Given the description of an element on the screen output the (x, y) to click on. 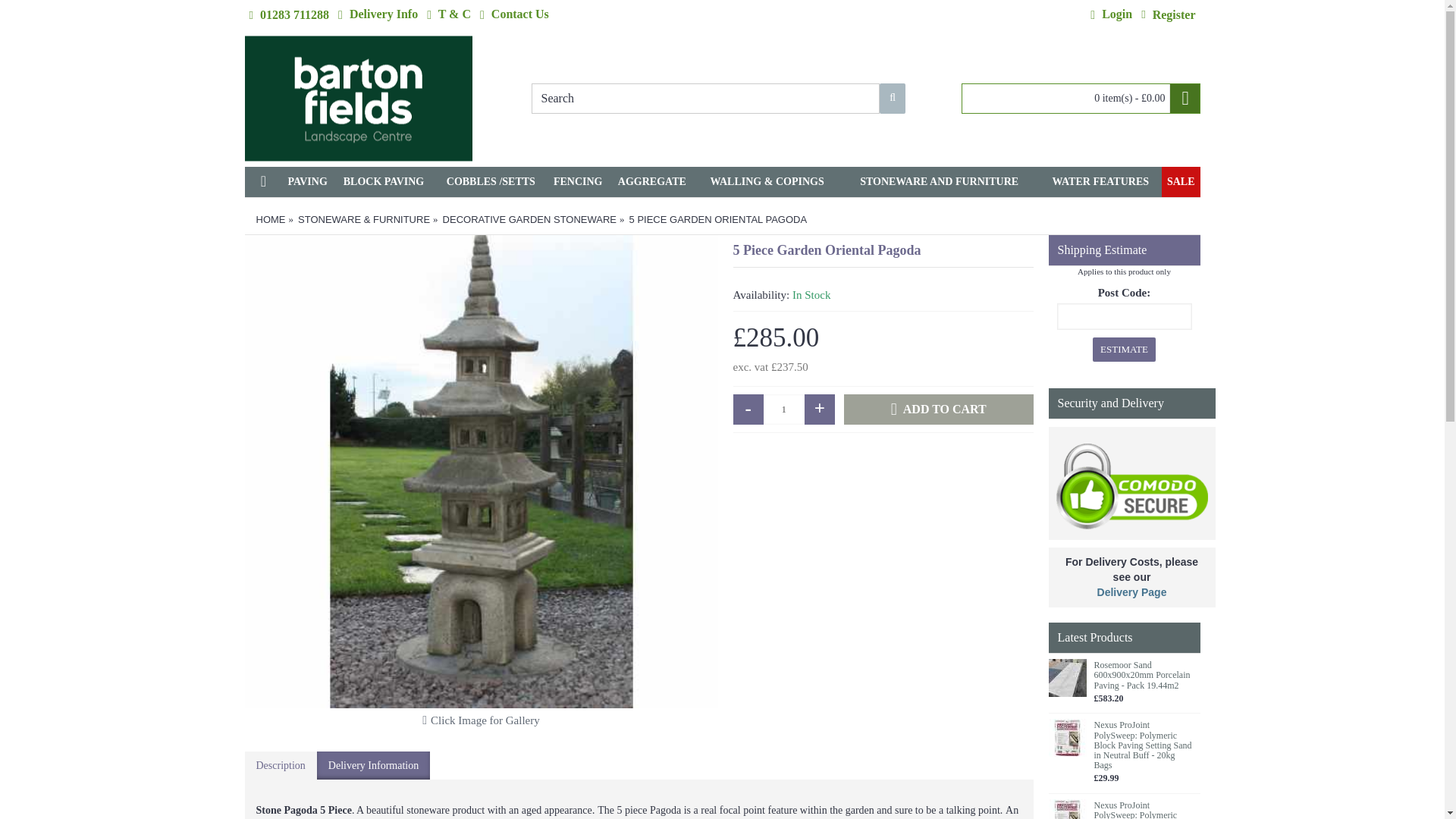
Barton Fields Landscape Centre (357, 98)
FENCING (577, 182)
PAVING (306, 182)
Register (1168, 15)
STONEWARE AND FURNITURE (939, 182)
Login (1111, 15)
AGGREGATE (651, 182)
Delivery Info (377, 15)
Contact Us (514, 15)
WATER FEATURES (1100, 182)
Rosemoor Sand 600x900x20mm Porcelain Paving  - Pack 19.44m2 (1067, 677)
1 (783, 409)
